Given the description of an element on the screen output the (x, y) to click on. 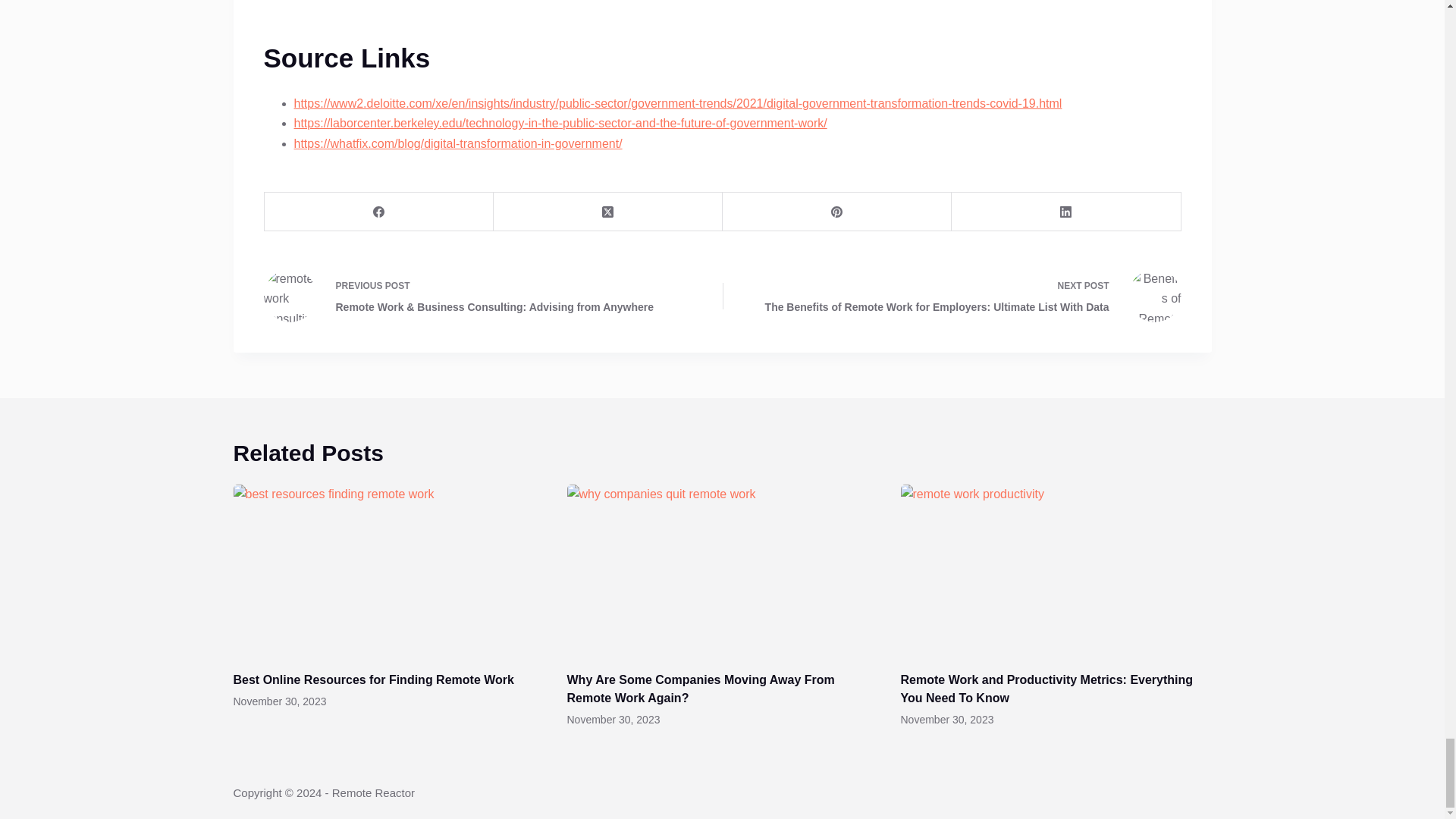
Why Are Some Companies Moving Away From Remote Work Again? (700, 688)
Best Online Resources for Finding Remote Work (372, 679)
